Given the description of an element on the screen output the (x, y) to click on. 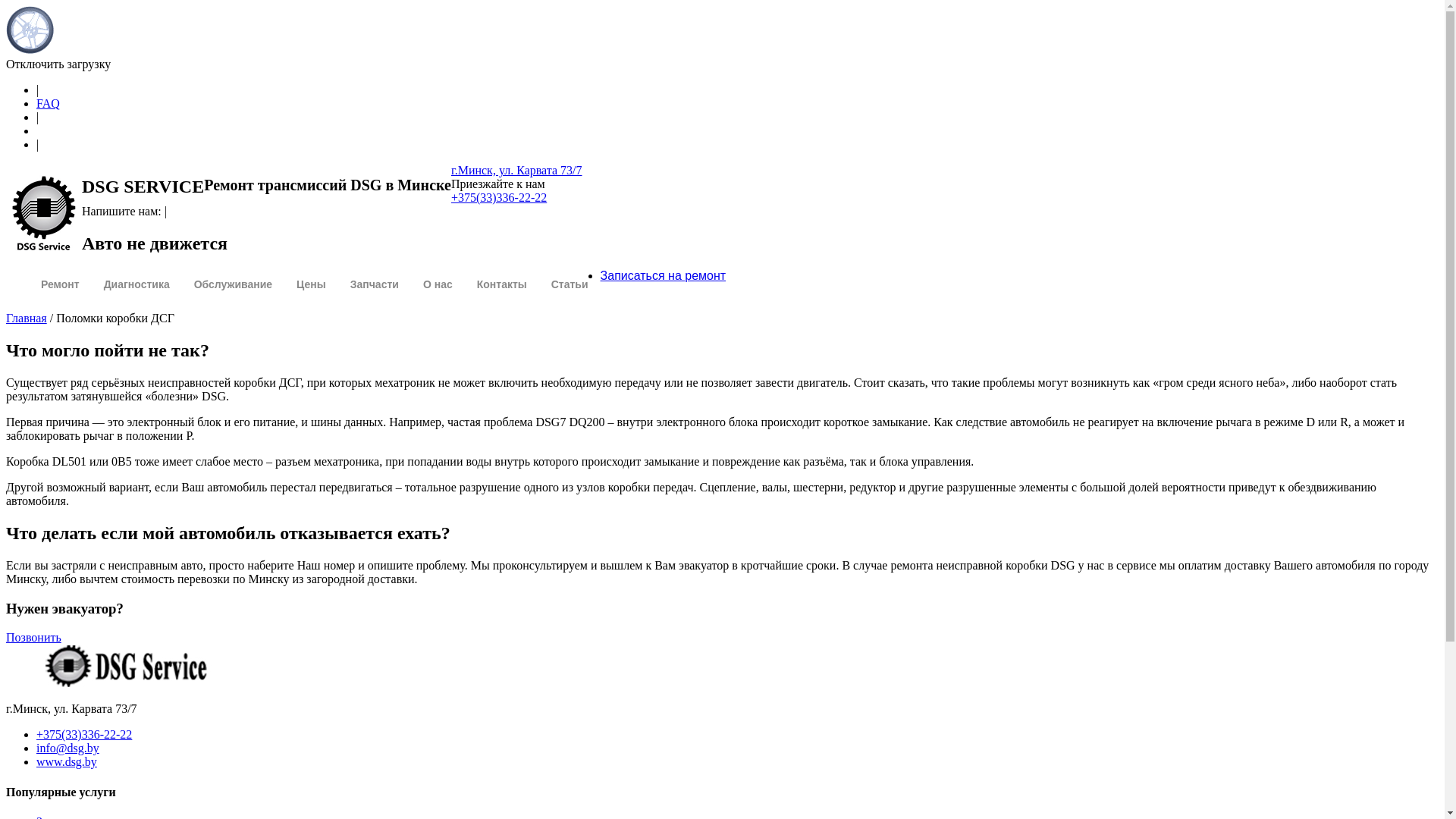
+375(33)336-22-22 Element type: text (83, 734)
+375(33)336-22-22 Element type: text (498, 197)
www.dsg.by Element type: text (66, 761)
info@dsg.by Element type: text (67, 747)
FAQ Element type: text (47, 103)
